Given the description of an element on the screen output the (x, y) to click on. 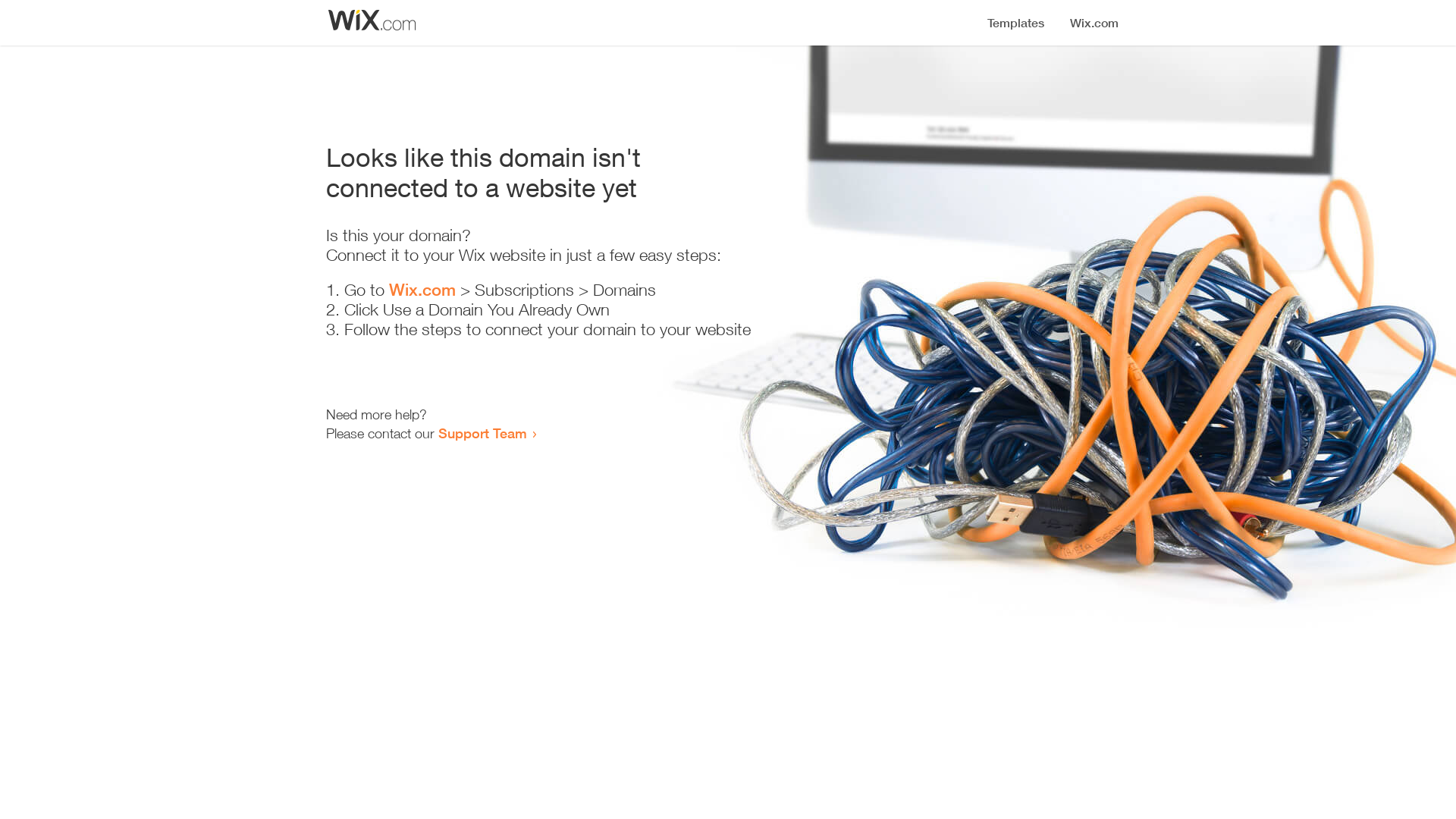
Support Team Element type: text (482, 432)
Wix.com Element type: text (422, 289)
